Given the description of an element on the screen output the (x, y) to click on. 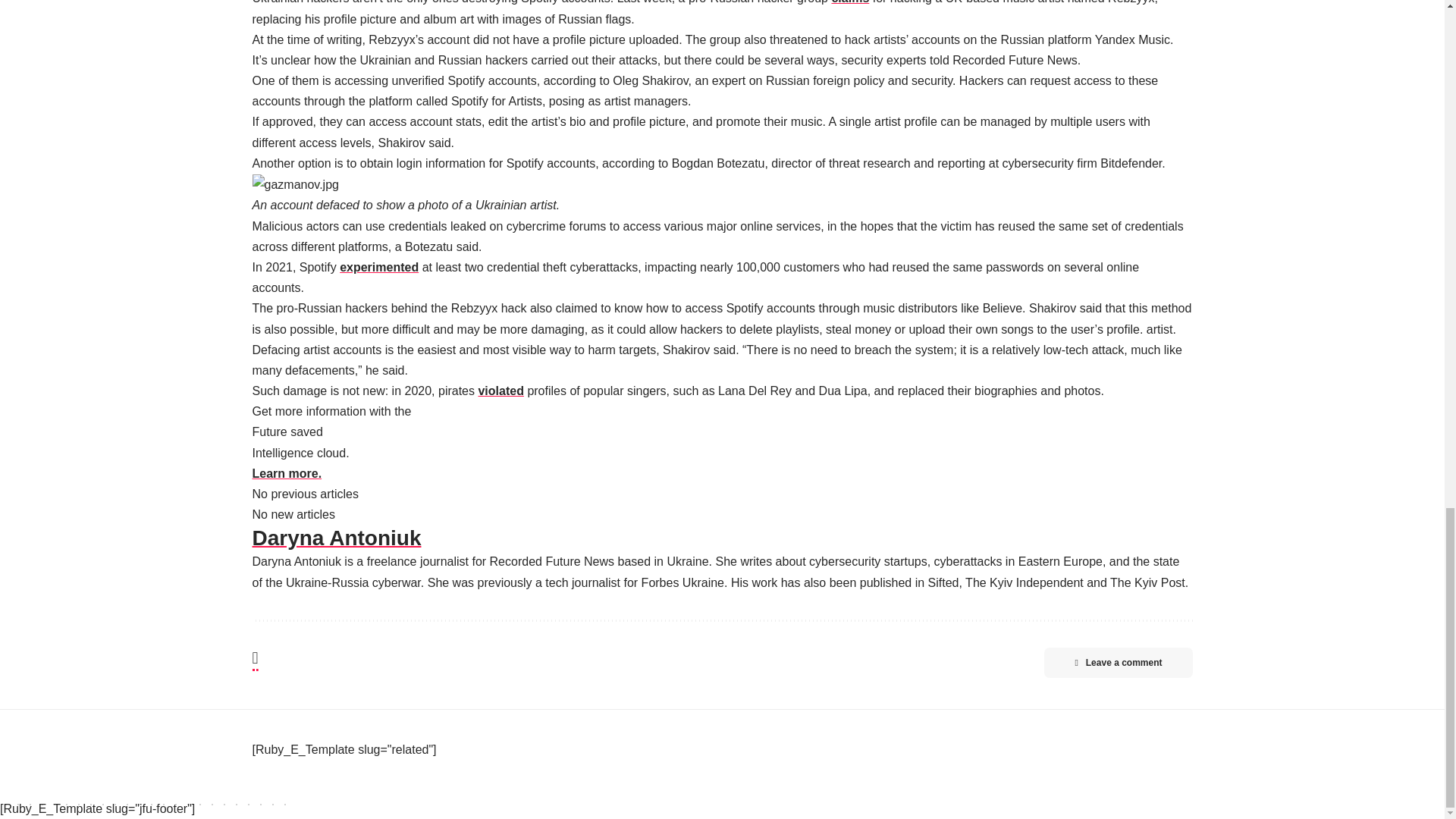
claims (850, 2)
Leave a comment (1117, 662)
violated (499, 390)
Daryna Antoniuk (721, 537)
Learn more. (286, 472)
experimented (379, 267)
